Given the description of an element on the screen output the (x, y) to click on. 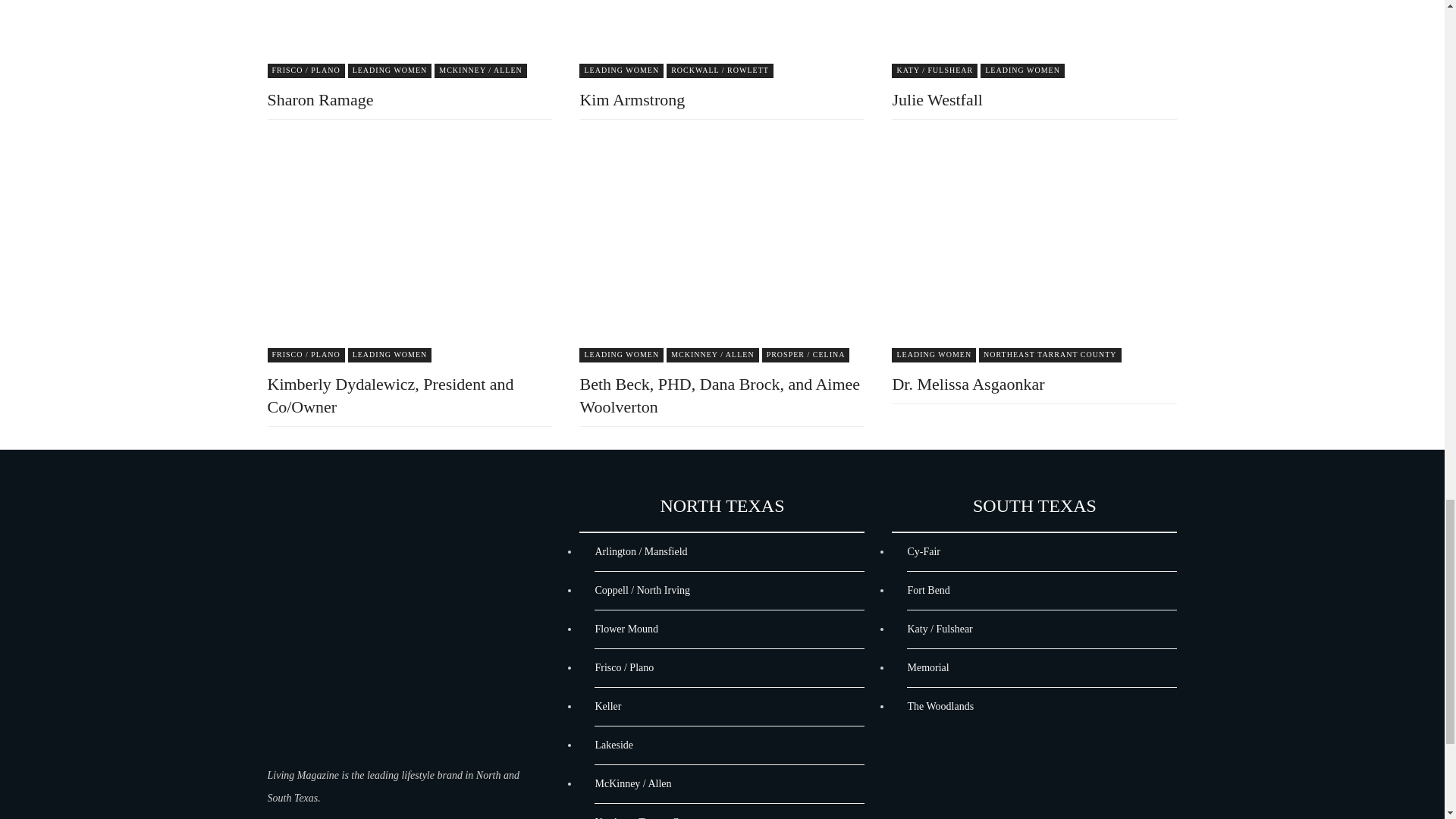
View all posts in 3670 (389, 355)
View all posts in 3680 (480, 70)
View all posts in 3682 (1049, 355)
View all posts in 3670 (621, 355)
View all posts in 3670 (1021, 70)
View all posts in 3670 (389, 70)
Living Magazine - Digital Edition (397, 632)
View all posts in 3670 (621, 70)
View all posts in 3677 (304, 355)
View all posts in 3677 (304, 70)
View all posts in 3670 (933, 355)
View all posts in 3685 (719, 70)
View all posts in 3678 (933, 70)
View all posts in 3683 (805, 355)
View all posts in 3680 (712, 355)
